Given the description of an element on the screen output the (x, y) to click on. 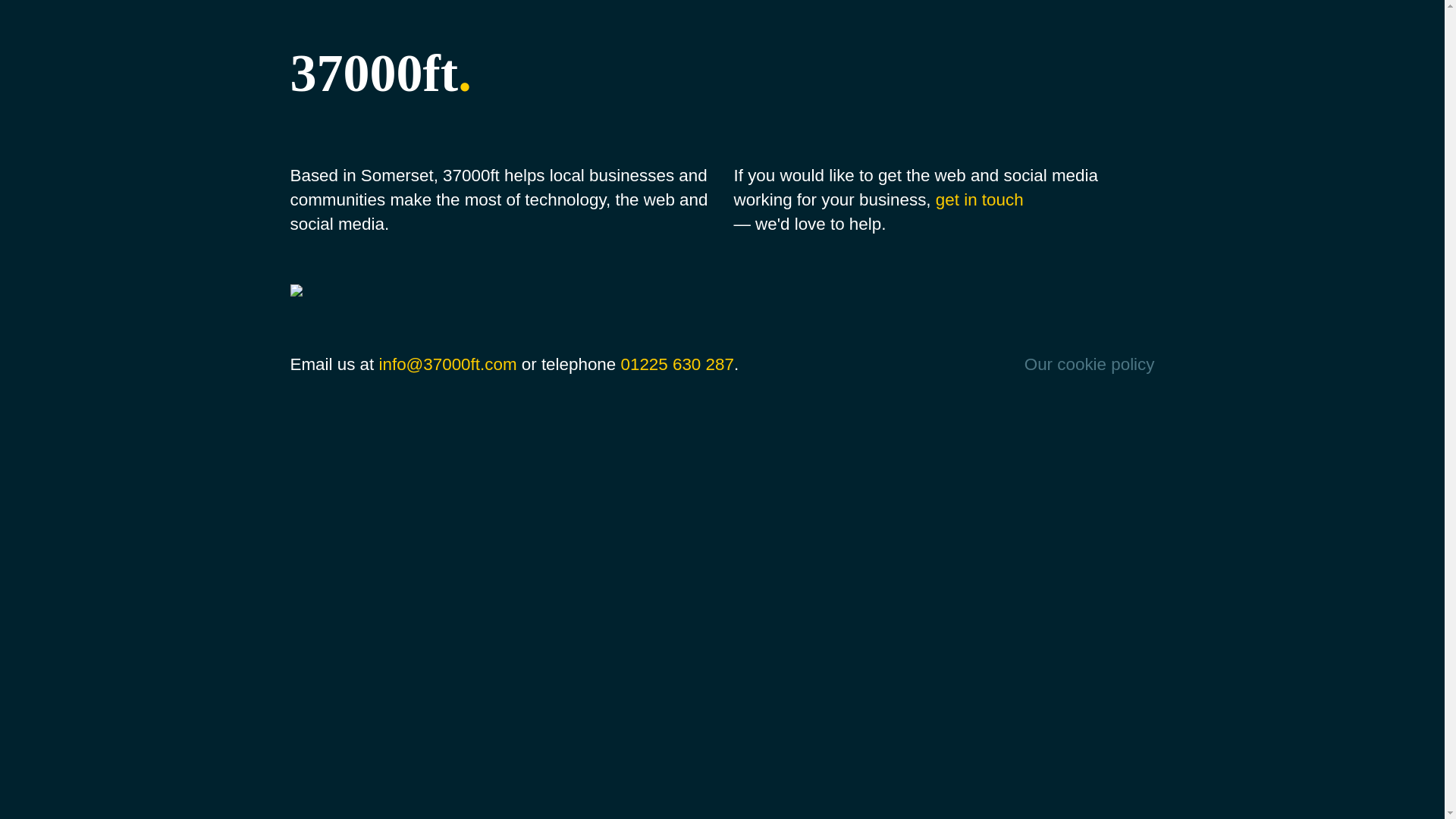
Our cookie policy Element type: text (1089, 364)
get in touch Element type: text (979, 199)
37000ft. Element type: text (610, 73)
info@37000ft.com Element type: text (447, 363)
01225 630 287 Element type: text (676, 363)
